Given the description of an element on the screen output the (x, y) to click on. 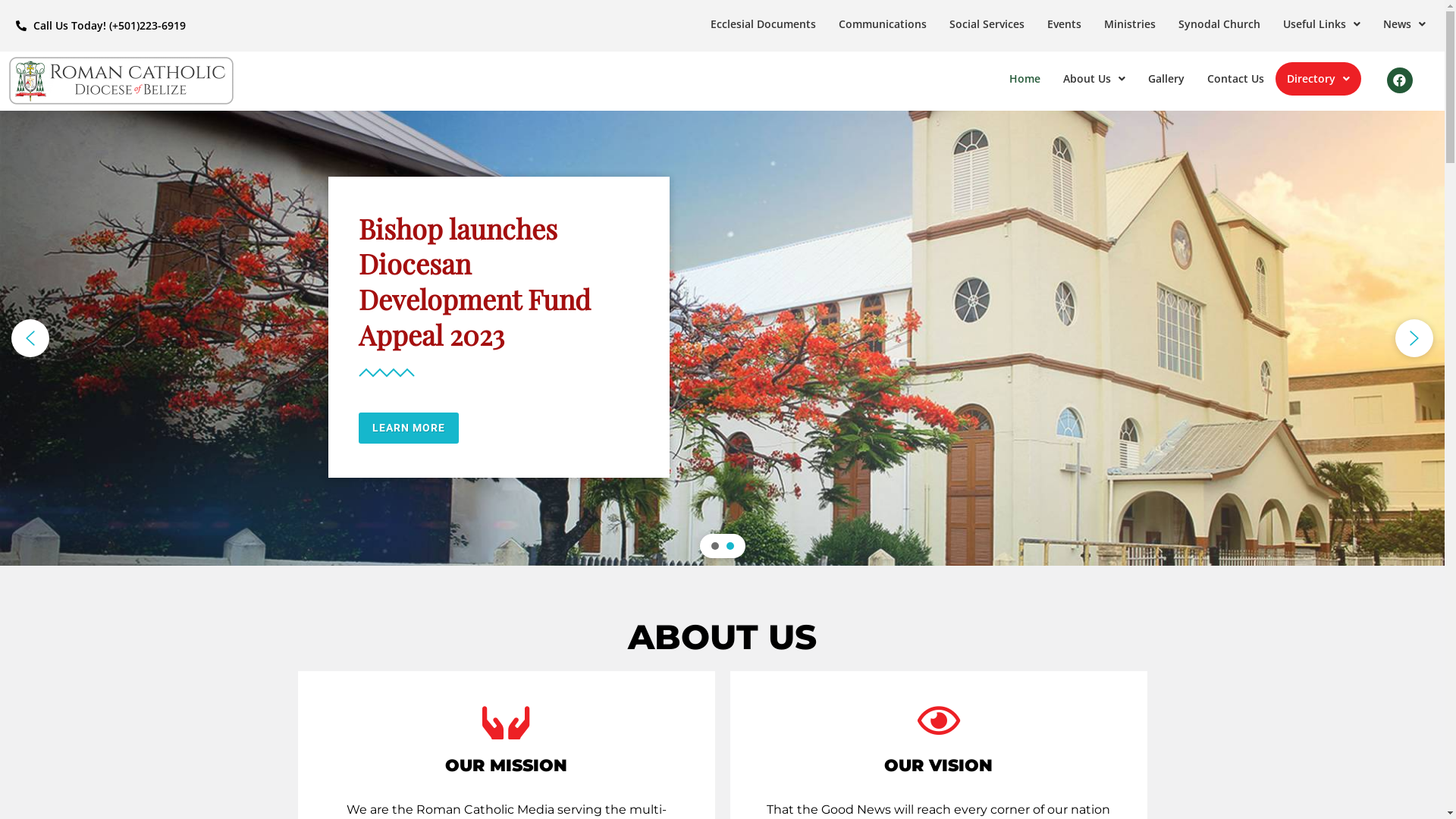
Ecclesial Documents Element type: text (763, 23)
Home Element type: text (1024, 78)
Communications Element type: text (882, 23)
Gallery Element type: text (1165, 78)
Synodal Church Element type: text (1219, 23)
Skip to content Element type: text (11, 31)
Events Element type: text (1063, 23)
Directory Element type: text (1318, 78)
About Us Element type: text (1093, 78)
Contact Us Element type: text (1235, 78)
News Element type: text (1404, 23)
LEARN MORE Element type: text (407, 427)
Useful Links Element type: text (1321, 23)
Social Services Element type: text (986, 23)
Ministries Element type: text (1129, 23)
